Given the description of an element on the screen output the (x, y) to click on. 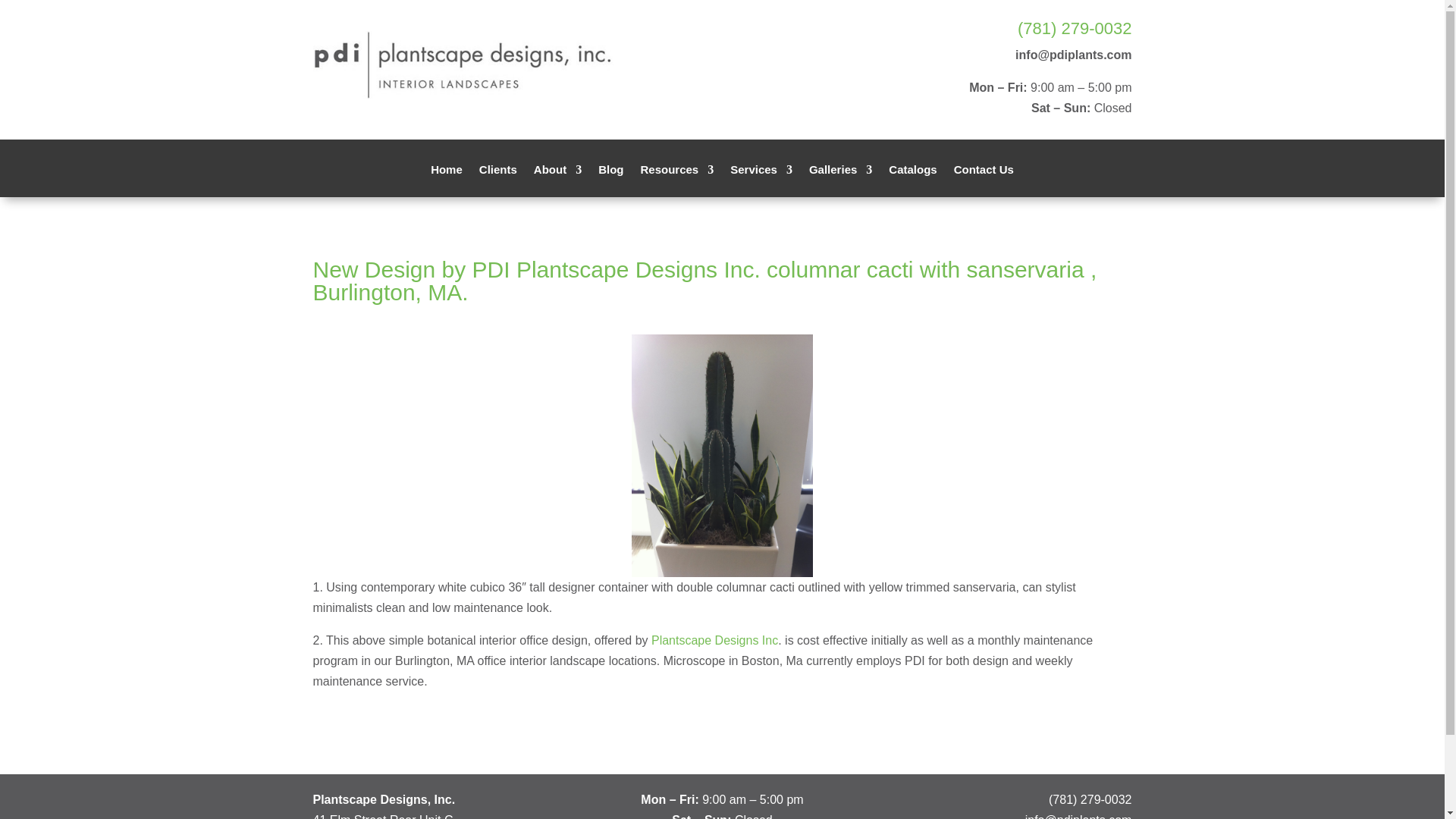
Galleries (840, 180)
Catalogs (912, 180)
Clients (497, 180)
Home (446, 180)
Resources (676, 180)
Contact Us (983, 180)
Services (761, 180)
About (557, 180)
Plantscape Designs Inc (712, 640)
